Given the description of an element on the screen output the (x, y) to click on. 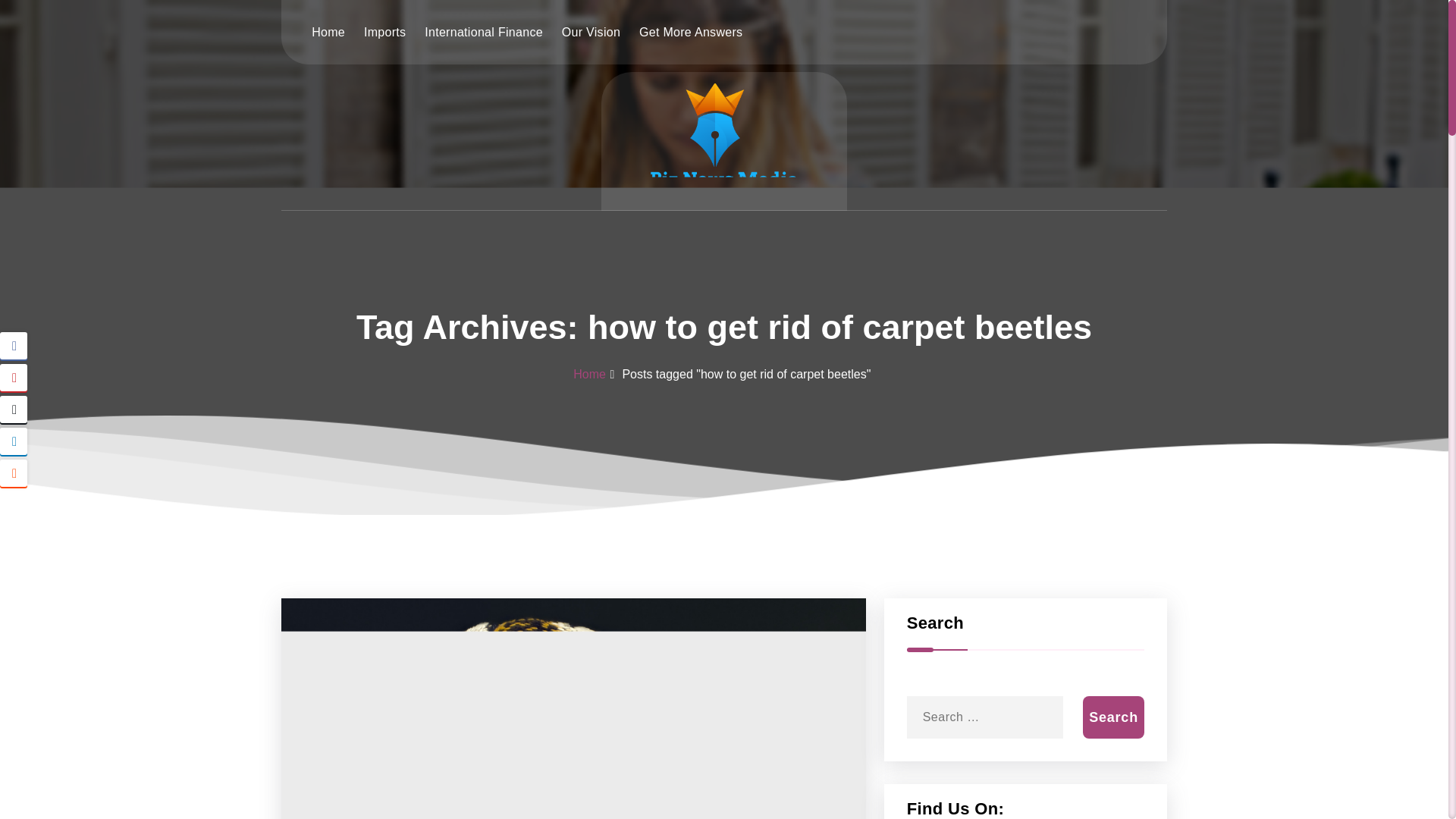
Search (1113, 717)
Get More Answers (690, 31)
Home (327, 31)
International Finance (483, 31)
Our Vision (590, 31)
Imports (384, 31)
Home (589, 373)
